Given the description of an element on the screen output the (x, y) to click on. 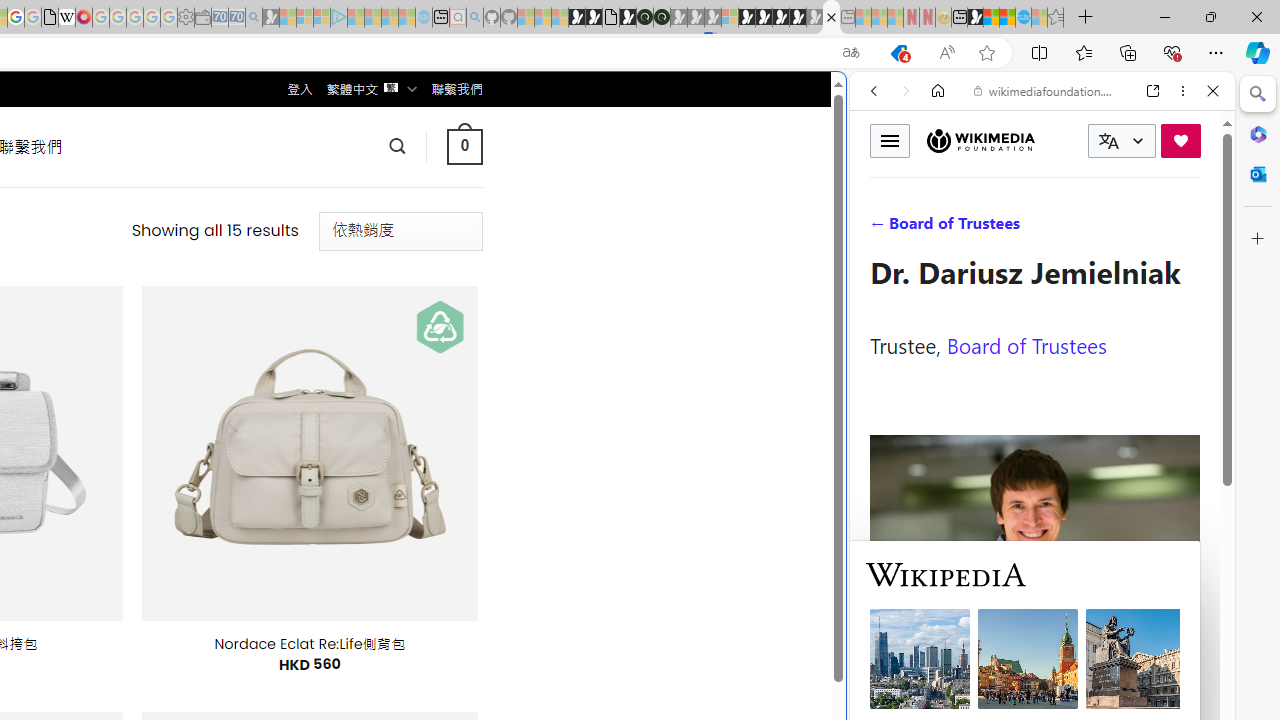
Settings - Sleeping (185, 17)
Toggle menu (890, 140)
World - MSN (991, 17)
Play Free Online Games | Games from Microsoft Start (763, 17)
